Given the description of an element on the screen output the (x, y) to click on. 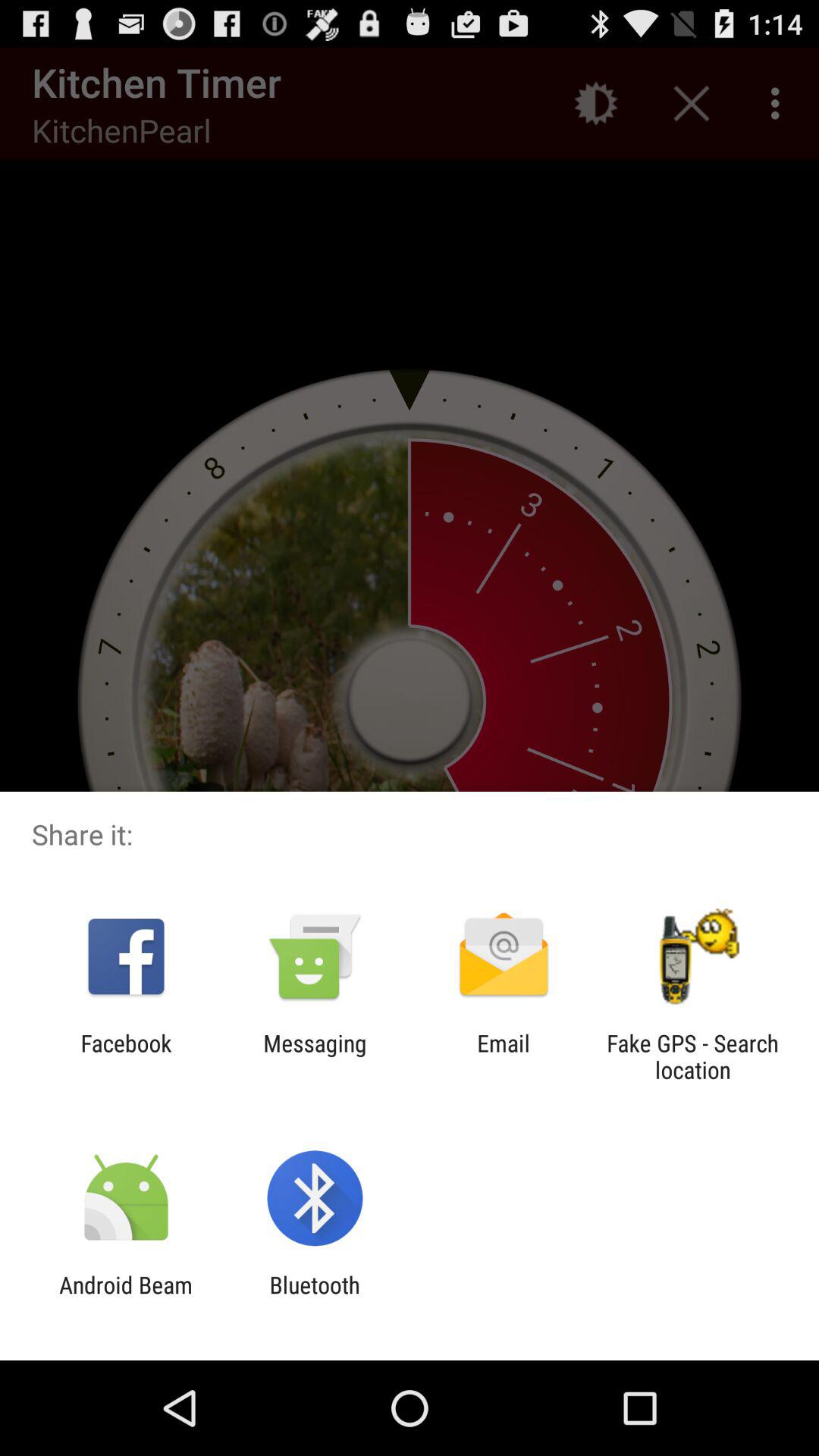
click the icon next to the android beam item (314, 1298)
